Given the description of an element on the screen output the (x, y) to click on. 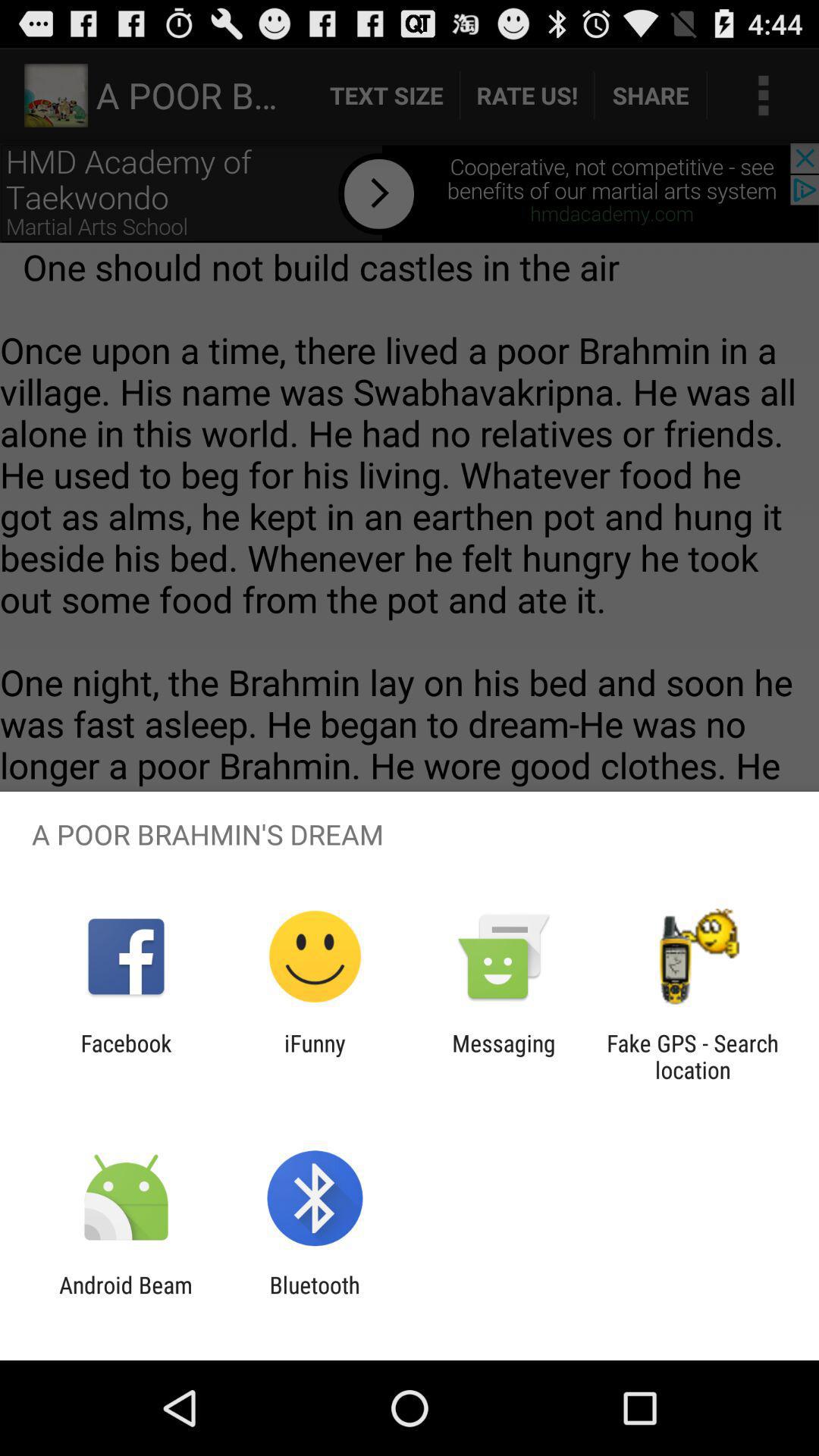
press the app next to the ifunny item (125, 1056)
